Given the description of an element on the screen output the (x, y) to click on. 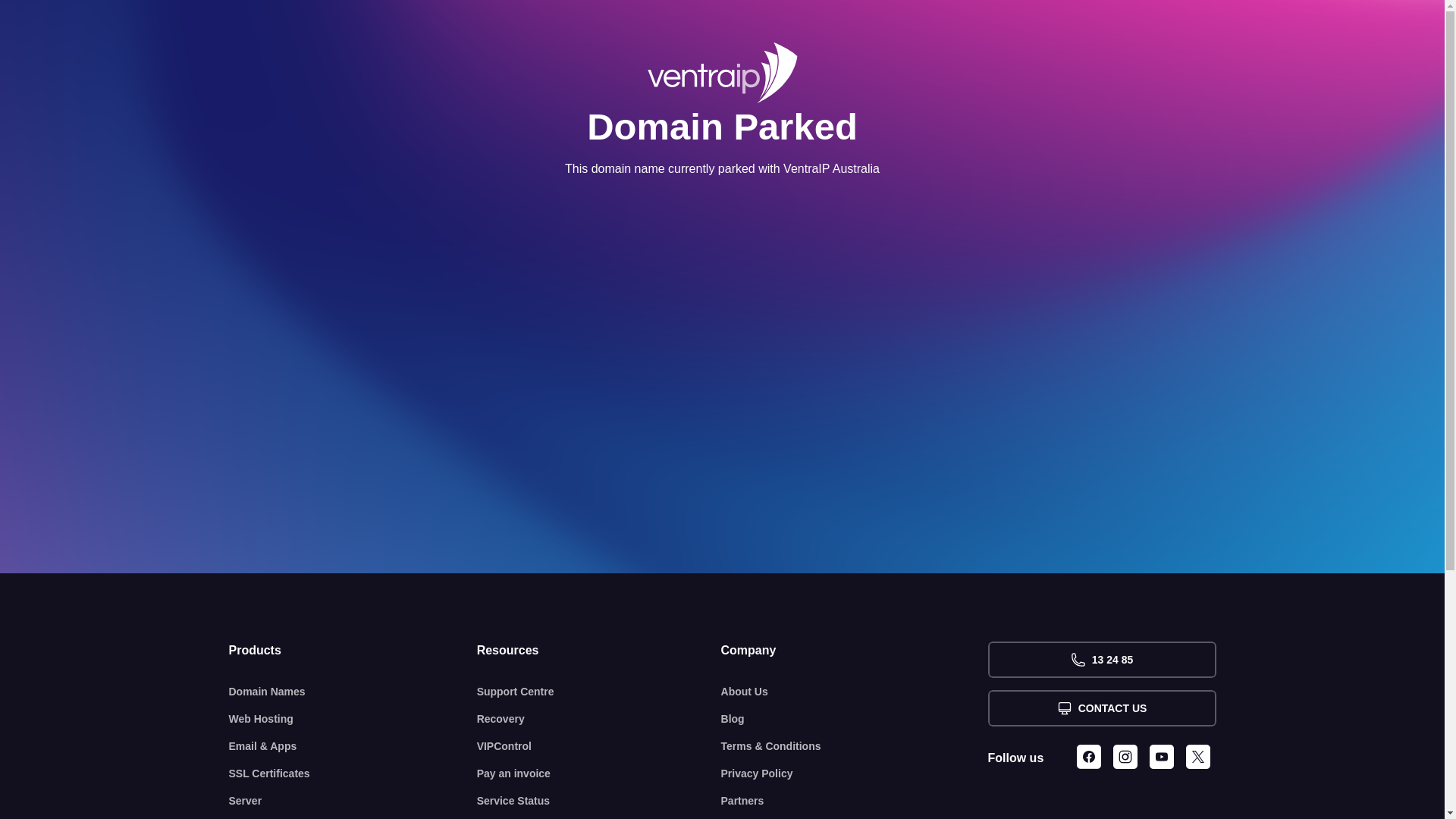
Domain Names Element type: text (352, 691)
Privacy Policy Element type: text (854, 773)
VIPControl Element type: text (598, 745)
Support Centre Element type: text (598, 691)
SSL Certificates Element type: text (352, 773)
Service Status Element type: text (598, 800)
Recovery Element type: text (598, 718)
Blog Element type: text (854, 718)
13 24 85 Element type: text (1101, 659)
Web Hosting Element type: text (352, 718)
Terms & Conditions Element type: text (854, 745)
CONTACT US Element type: text (1101, 708)
Pay an invoice Element type: text (598, 773)
Partners Element type: text (854, 800)
About Us Element type: text (854, 691)
Email & Apps Element type: text (352, 745)
Server Element type: text (352, 800)
